Given the description of an element on the screen output the (x, y) to click on. 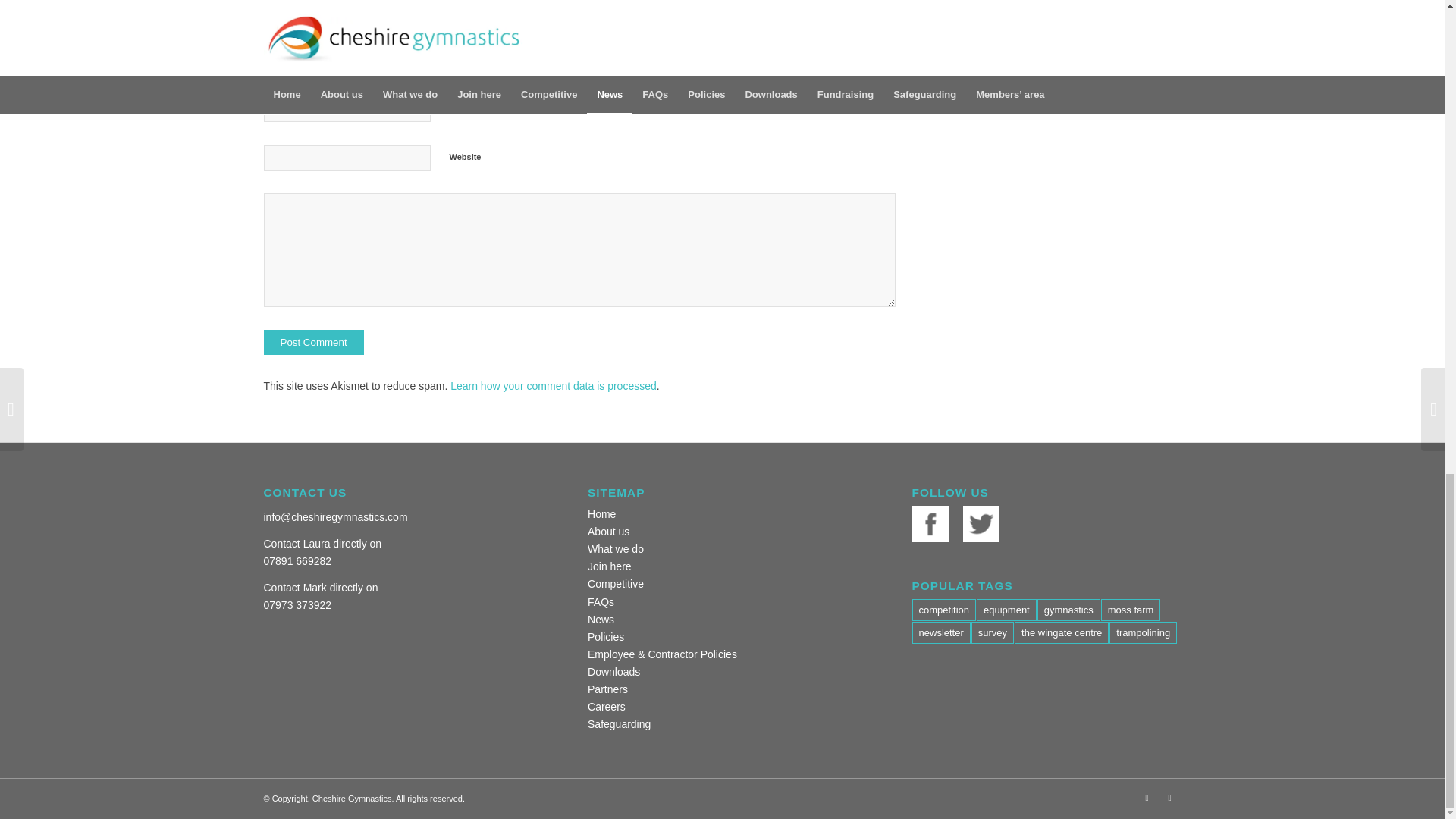
Post Comment (313, 342)
Learn how your comment data is processed (552, 386)
Post Comment (313, 342)
